Given the description of an element on the screen output the (x, y) to click on. 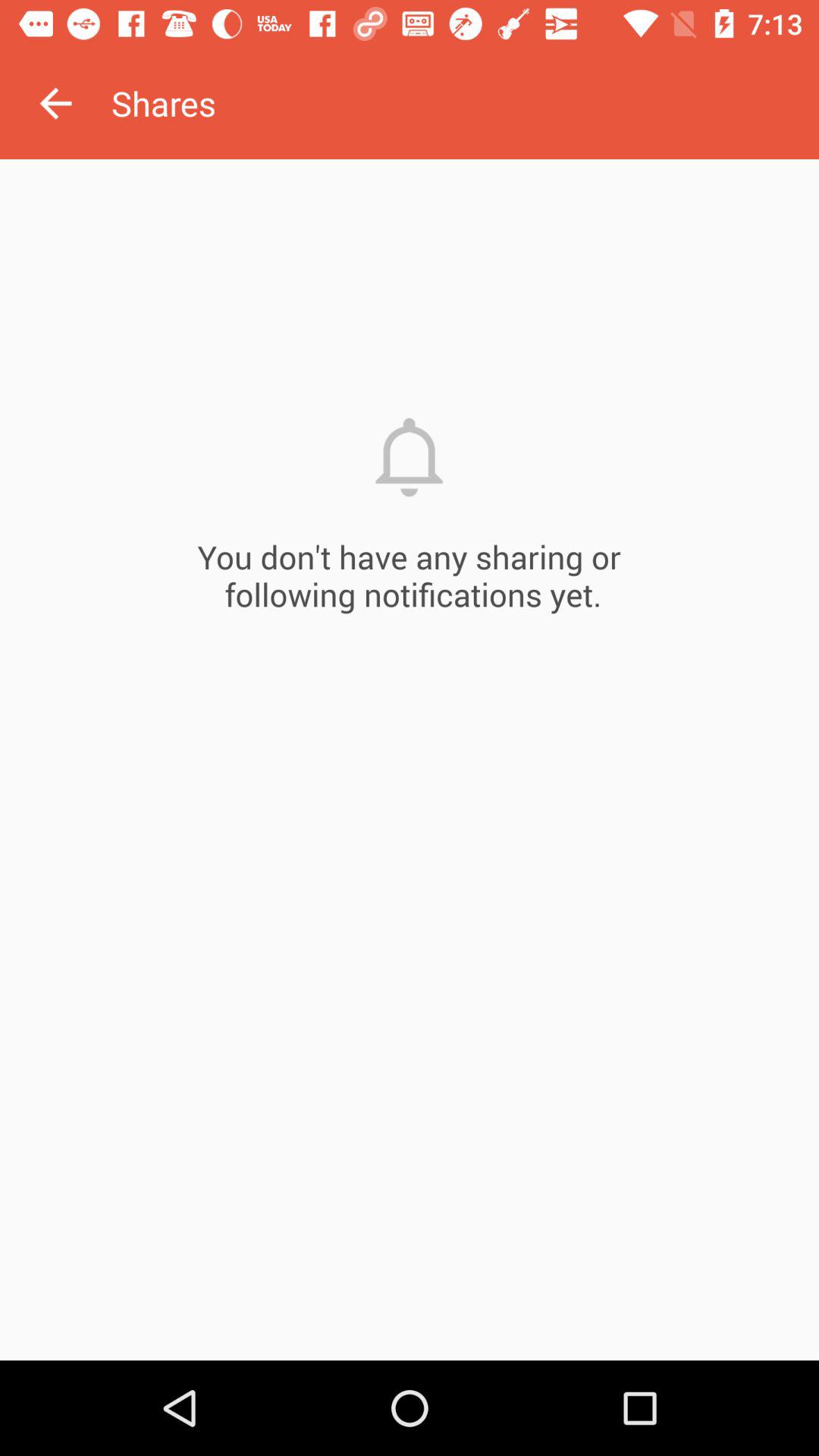
jump until shares icon (465, 103)
